Given the description of an element on the screen output the (x, y) to click on. 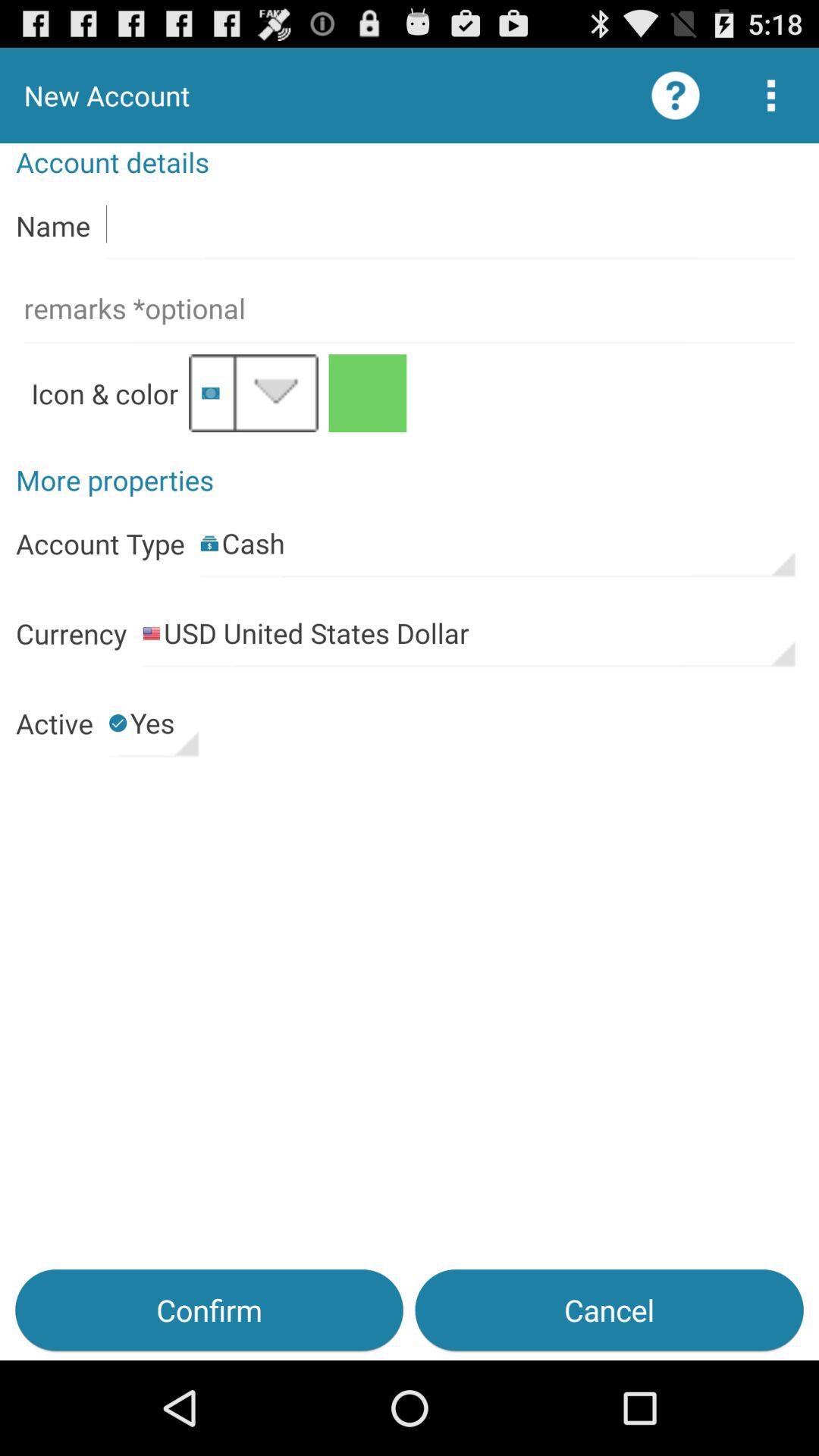
color option (367, 393)
